Given the description of an element on the screen output the (x, y) to click on. 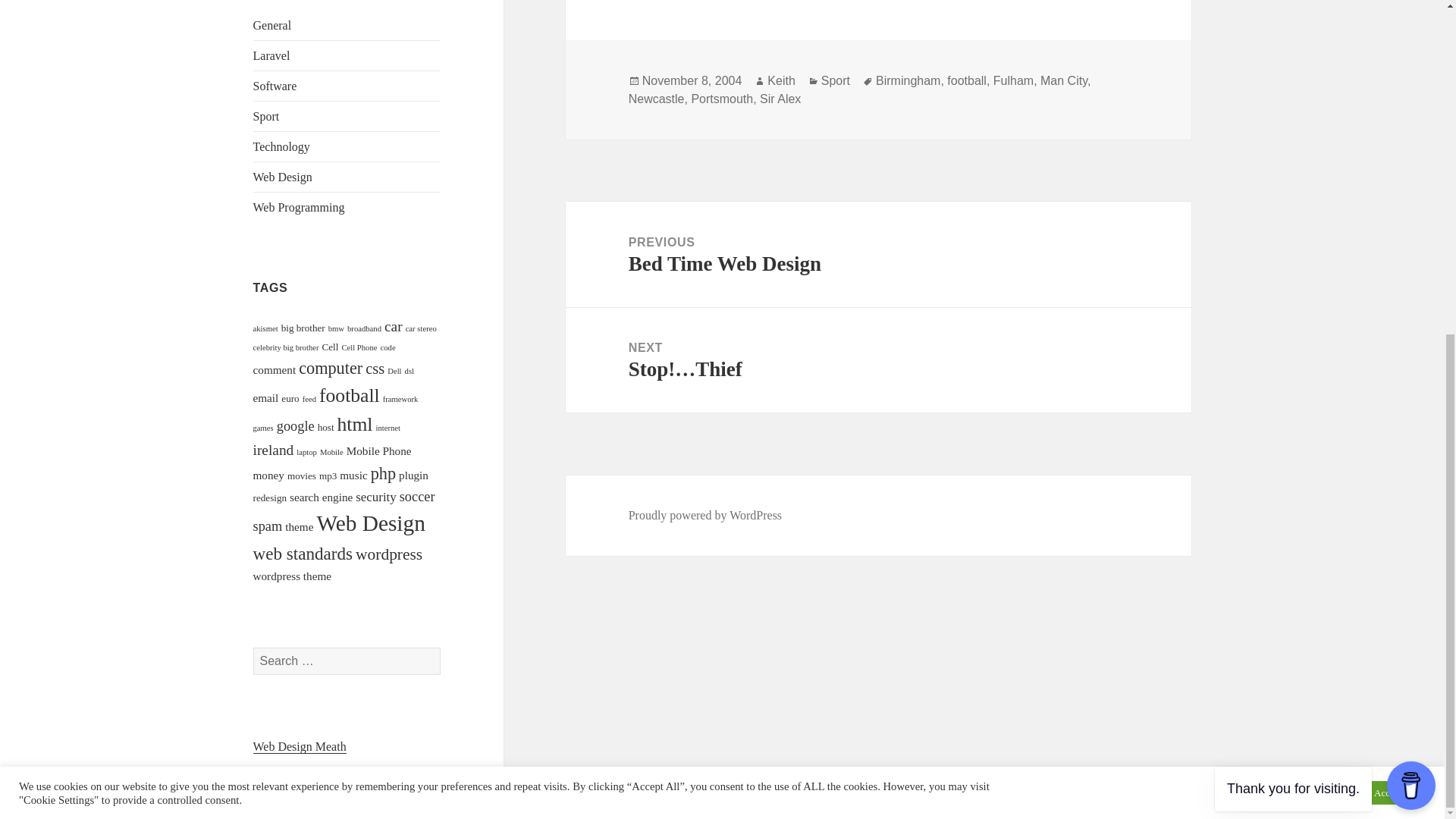
Technology (281, 146)
email (266, 397)
Web Design (283, 176)
host (325, 427)
Cell Phone (358, 347)
computer (330, 367)
car (393, 326)
games (263, 428)
Laravel (271, 55)
feed (308, 398)
